Given the description of an element on the screen output the (x, y) to click on. 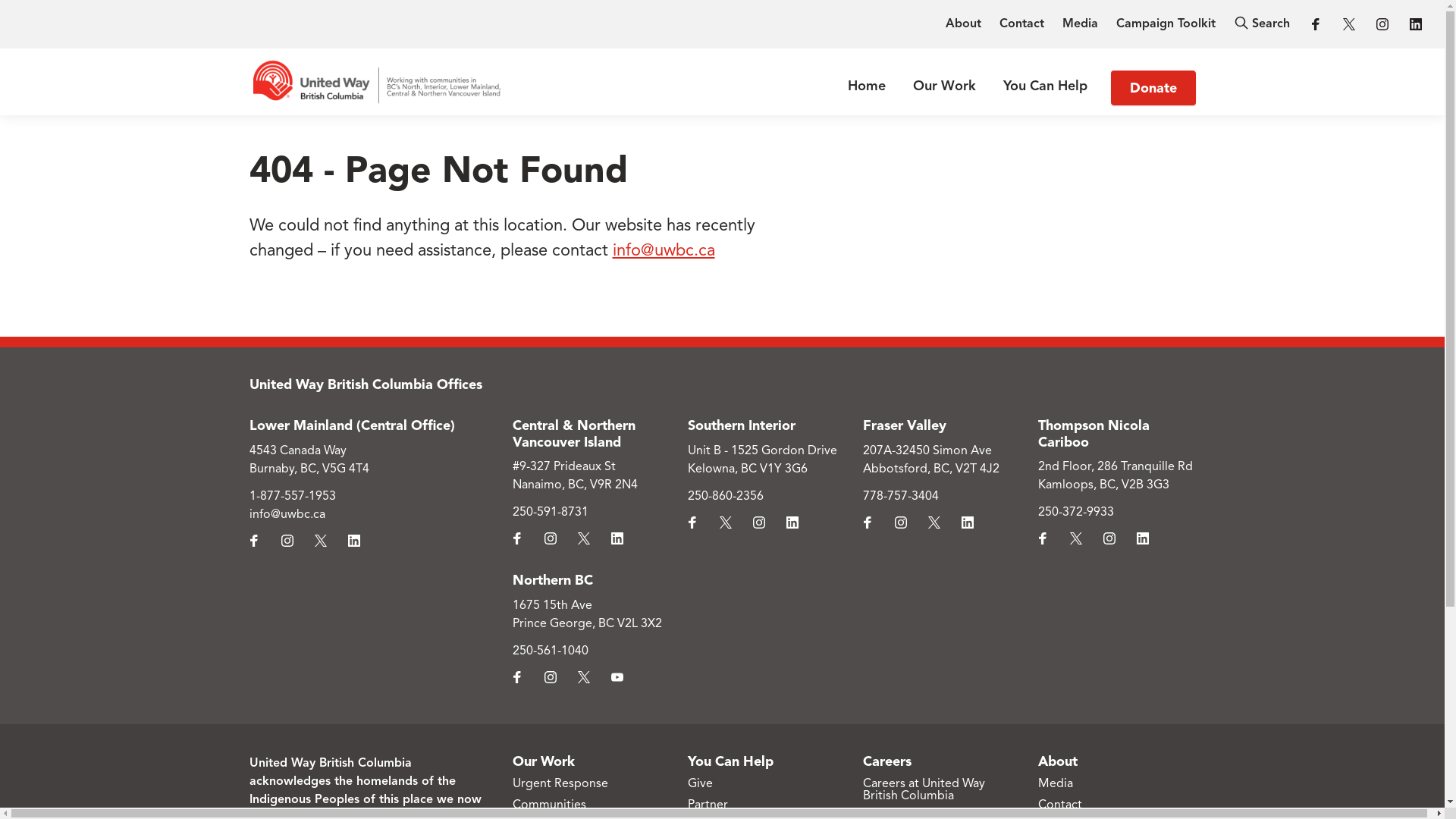
Instagram Element type: text (1382, 23)
Facebook Element type: text (516, 538)
Facebook Element type: text (692, 522)
Linkedin Element type: text (1142, 538)
Contact Element type: text (1021, 24)
778-757-3404 Element type: text (900, 496)
Linkedin Element type: text (967, 522)
Media Element type: text (1055, 784)
Facebook Element type: text (1315, 23)
1-877-557-1953 Element type: text (291, 496)
Our Work Element type: text (944, 86)
Twitter Element type: text (725, 522)
Communities Element type: text (549, 805)
Campaign Toolkit Element type: text (1165, 24)
Twitter Element type: text (933, 522)
Facebook Element type: text (516, 676)
Give Element type: text (699, 784)
About Element type: text (1057, 761)
Linkedin Element type: text (353, 540)
Instagram Element type: text (286, 540)
Contact Element type: text (1060, 805)
Instagram Element type: text (900, 522)
250-561-1040 Element type: text (550, 651)
250-591-8731 Element type: text (550, 512)
You Can Help Element type: text (730, 761)
About Element type: text (963, 24)
Search Element type: text (1261, 23)
Twitter Element type: text (319, 540)
Twitter Element type: text (1348, 23)
Our Work Element type: text (543, 761)
Facebook Element type: text (1042, 538)
Instagram Element type: text (550, 538)
Twitter Element type: text (583, 538)
250-372-9933 Element type: text (1075, 512)
info@uwbc.ca Element type: text (286, 514)
Partner Element type: text (707, 805)
Linkedin Element type: text (1415, 23)
Media Element type: text (1080, 24)
Urgent Response Element type: text (560, 784)
Facebook Element type: text (867, 522)
Facebook Element type: text (252, 540)
Linkedin Element type: text (616, 538)
Youtube Element type: text (616, 676)
Careers at United Way British Columbia Element type: text (923, 790)
Linkedin Element type: text (792, 522)
Twitter Element type: text (1075, 538)
Instagram Element type: text (550, 676)
You Can Help Element type: text (1044, 86)
info@uwbc.ca Element type: text (663, 250)
Careers Element type: text (886, 761)
Donate Element type: text (1152, 87)
Instagram Element type: text (758, 522)
Home Element type: text (866, 86)
Twitter Element type: text (583, 676)
Instagram Element type: text (1109, 538)
250-860-2356 Element type: text (725, 496)
